Given the description of an element on the screen output the (x, y) to click on. 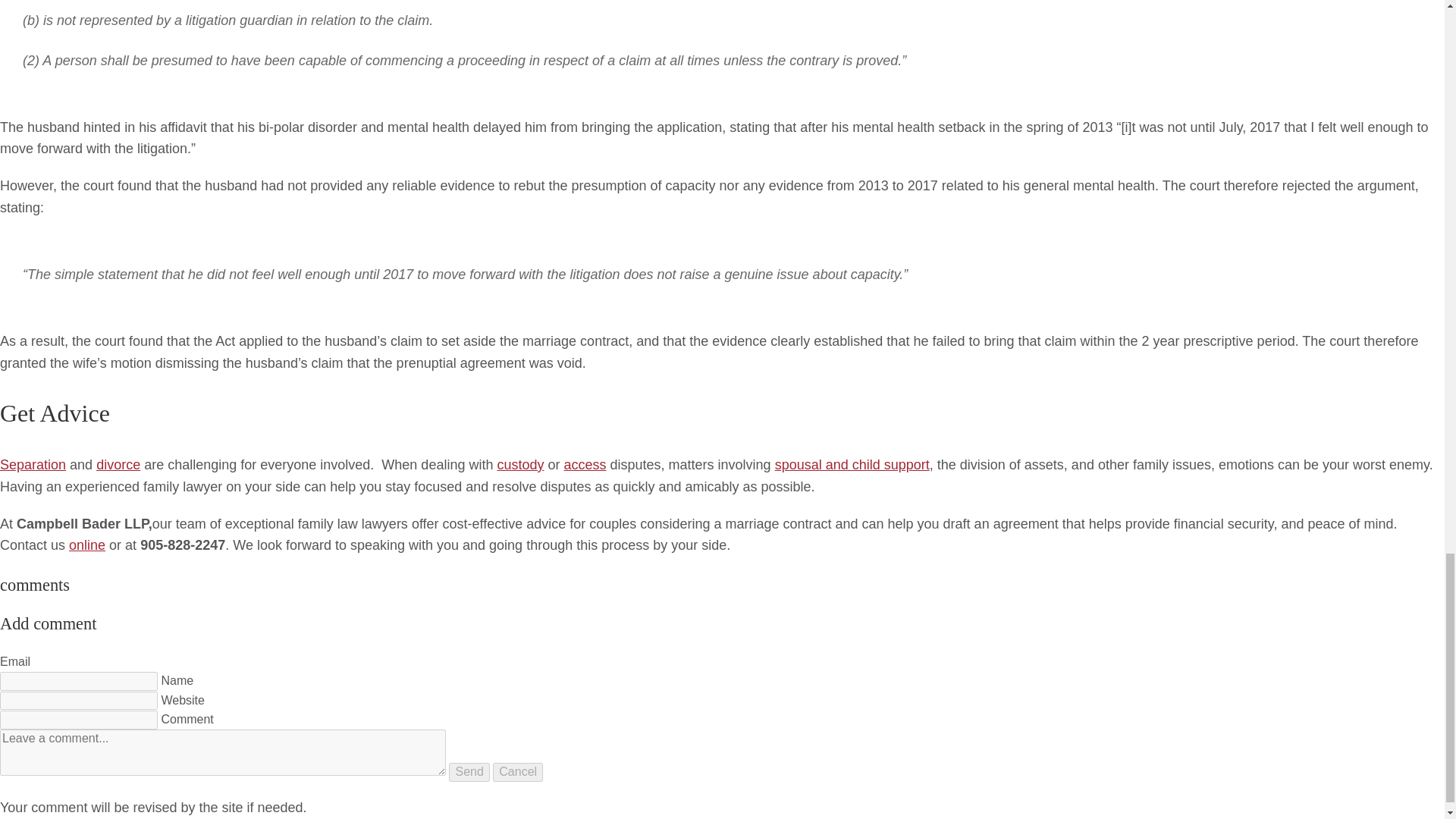
Send (468, 771)
custody (519, 464)
spousal and child support (852, 464)
divorce (117, 464)
access (585, 464)
Separation (32, 464)
online (86, 544)
Cancel (518, 771)
